Given the description of an element on the screen output the (x, y) to click on. 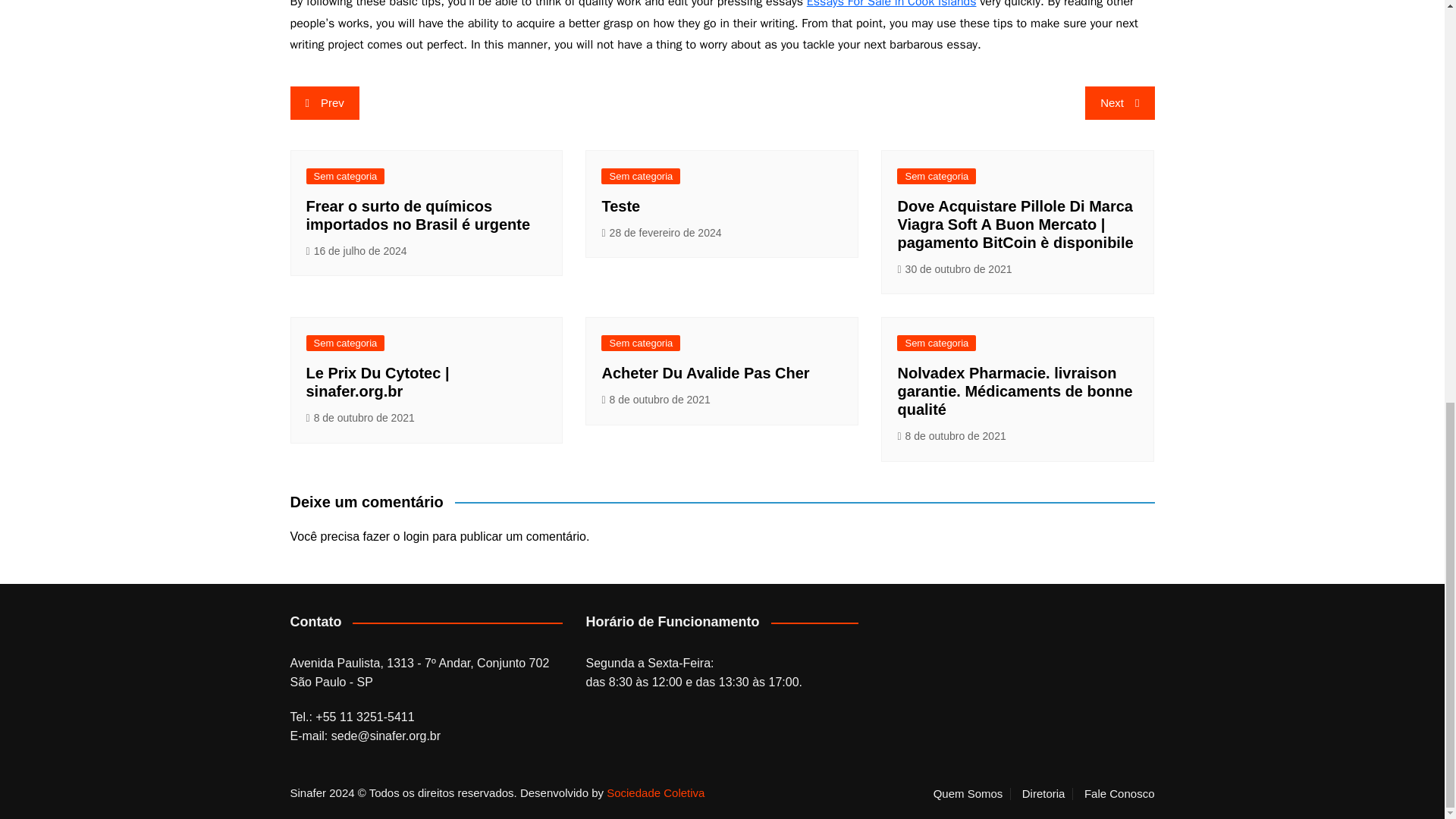
16 de julho de 2024 (356, 251)
Essays For Sale in Cook Islands (891, 4)
Sem categoria (640, 176)
Sem categoria (345, 176)
Next (1119, 102)
Prev (323, 102)
Teste (620, 206)
